Given the description of an element on the screen output the (x, y) to click on. 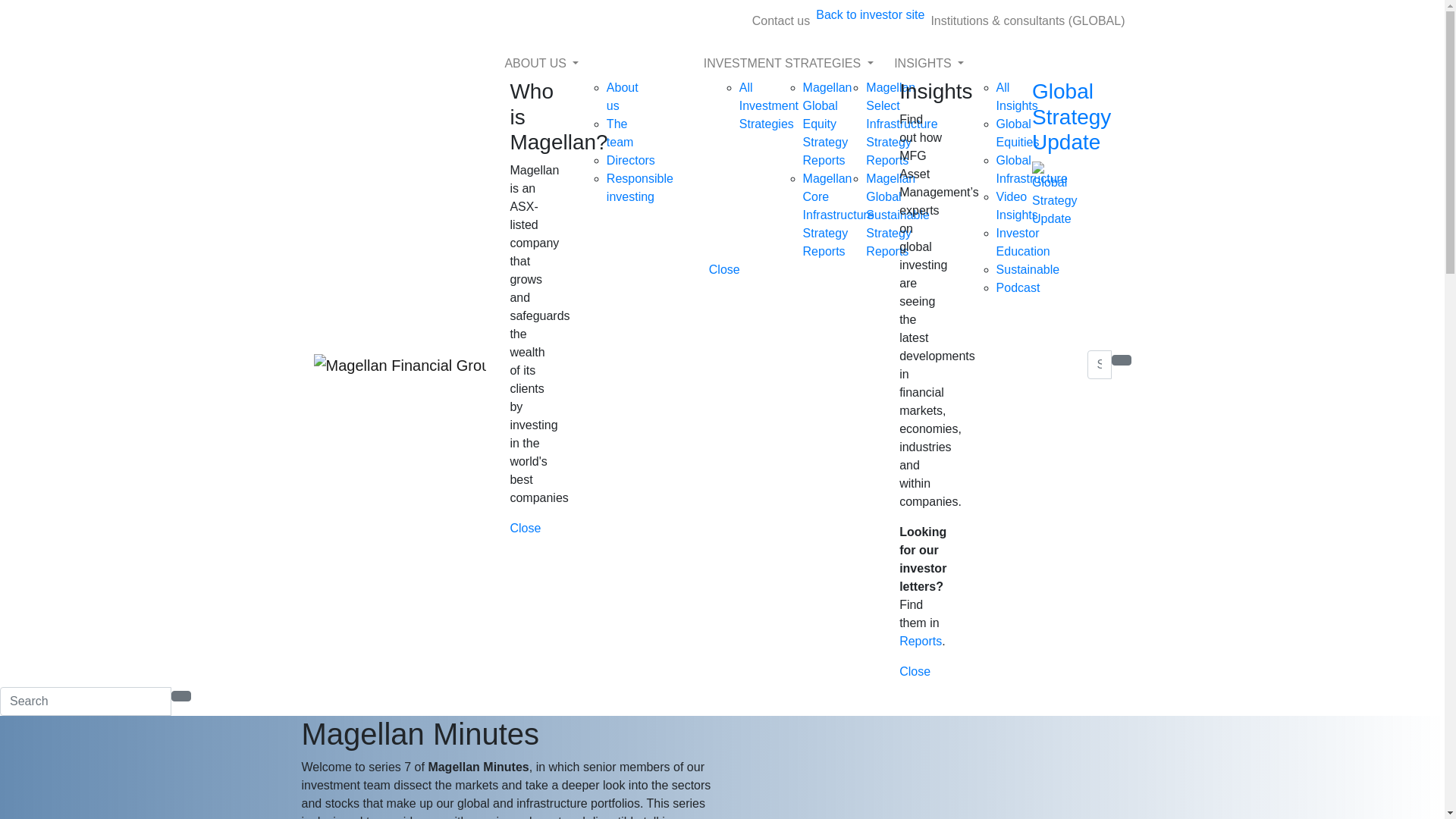
Close Element type: text (724, 269)
Global Infrastructure Element type: text (1031, 169)
All Investment Strategies Element type: text (768, 105)
Institutions & consultants (GLOBAL) Element type: text (1027, 21)
INVESTMENT STRATEGIES Element type: text (792, 63)
Magellan Global Equity Strategy Element type: text (827, 114)
Close Element type: text (524, 528)
Responsible investing Element type: text (639, 187)
Reports Element type: text (888, 169)
Reports Element type: text (825, 169)
Directors Element type: text (630, 159)
Contact us Element type: text (780, 21)
Magellan Global Sustainable Strategy Element type: text (897, 205)
The team Element type: text (619, 132)
About us Element type: text (622, 96)
Sustainable Element type: text (1028, 269)
Reports Element type: text (888, 260)
Investor Education Element type: text (1023, 241)
Podcast Element type: text (1018, 287)
Global Equities Element type: text (1017, 132)
Reports Element type: text (920, 640)
Back to investor site Element type: text (869, 14)
Video Insights Element type: text (1017, 205)
Magellan Select Infrastructure Strategy Element type: text (901, 114)
Reports Element type: text (825, 260)
Close Element type: text (914, 671)
Global Strategy Update Element type: text (1053, 153)
INSIGHTS Element type: text (987, 63)
Magellan Core Infrastructure Strategy Element type: text (838, 205)
All Insights Element type: text (1017, 96)
ABOUT US Element type: text (597, 63)
